Given the description of an element on the screen output the (x, y) to click on. 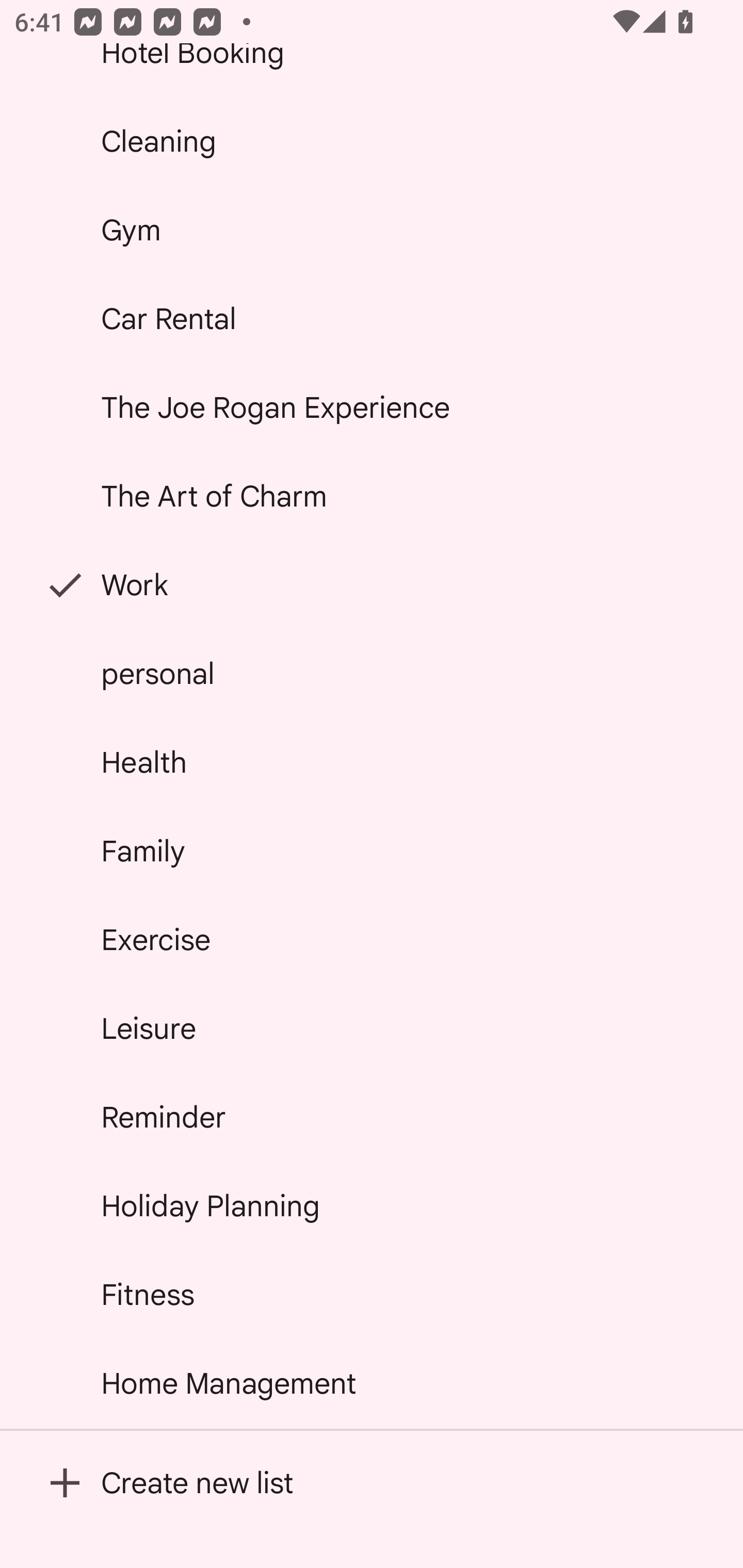
Cleaning (371, 141)
Gym (371, 229)
Car Rental (371, 318)
The Joe Rogan Experience (371, 407)
The Art of Charm (371, 496)
Work (371, 584)
personal (371, 673)
Health (371, 762)
Family (371, 850)
Exercise (371, 939)
Leisure (371, 1028)
Reminder (371, 1117)
Holiday Planning (371, 1205)
Fitness (371, 1294)
Home Management (371, 1383)
Create new list (371, 1482)
